Given the description of an element on the screen output the (x, y) to click on. 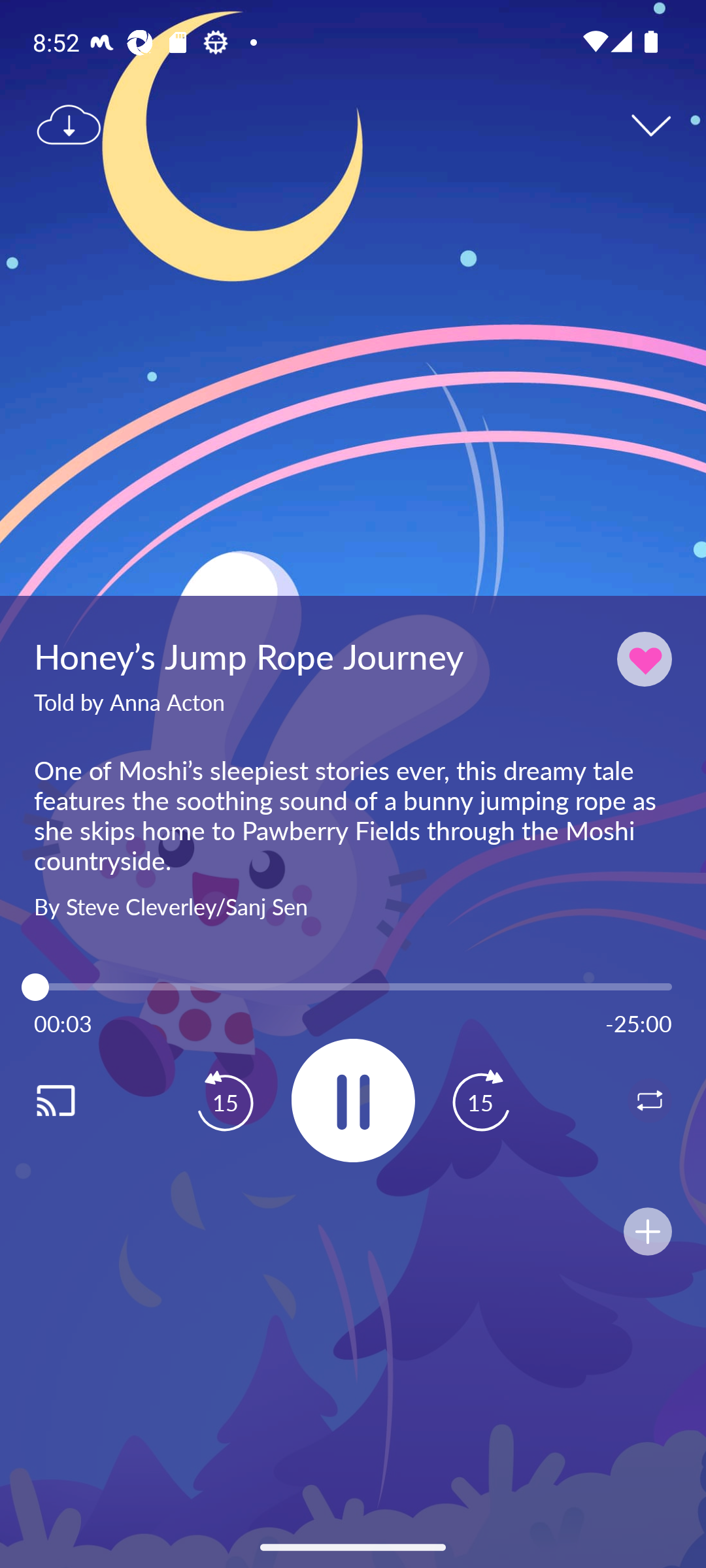
3.0 (352, 986)
Cast. Disconnected (76, 1100)
